Given the description of an element on the screen output the (x, y) to click on. 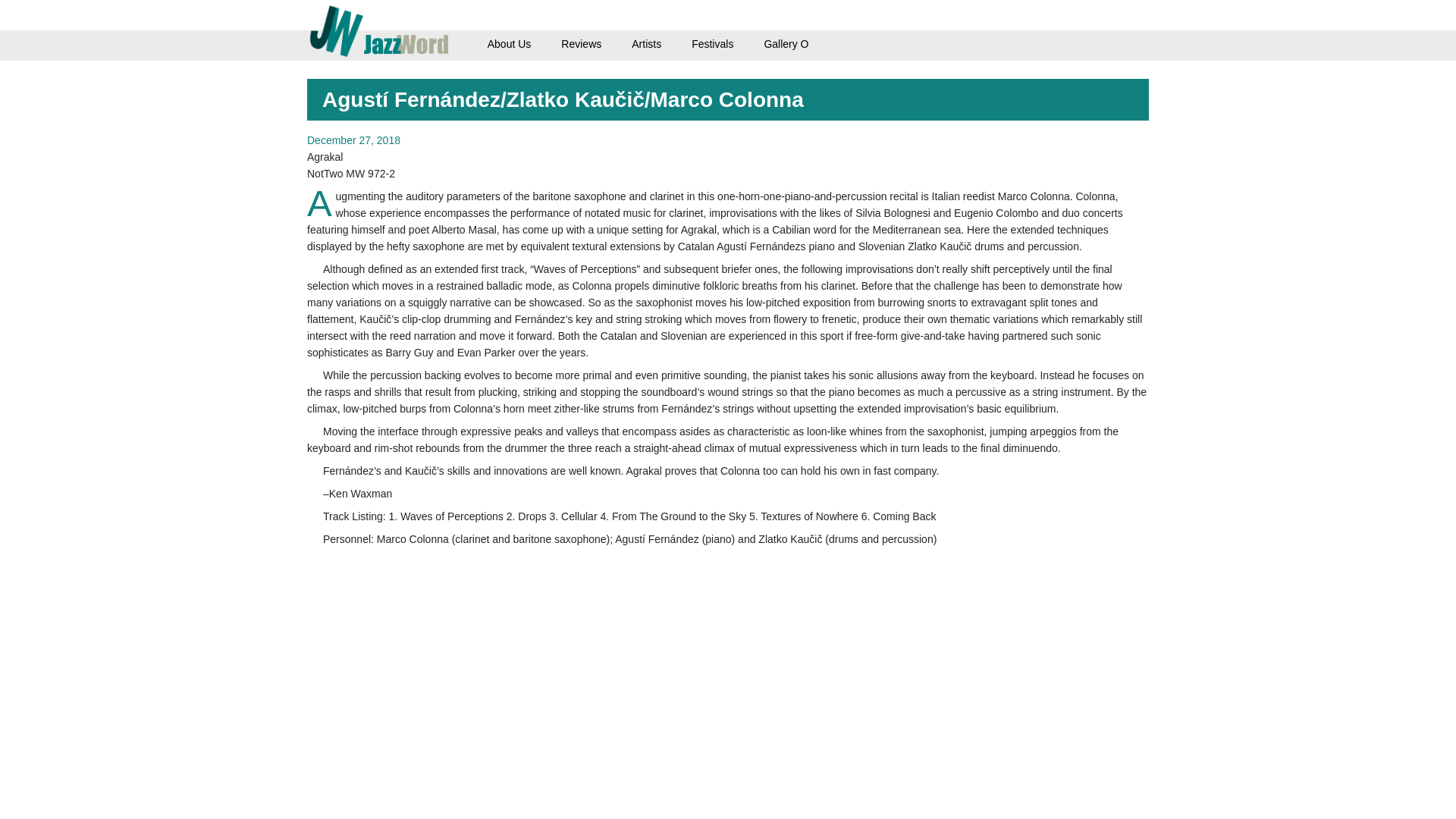
Artists (646, 43)
Reviews (580, 43)
Festivals (712, 43)
Gallery O (785, 43)
About Us (509, 43)
